Given the description of an element on the screen output the (x, y) to click on. 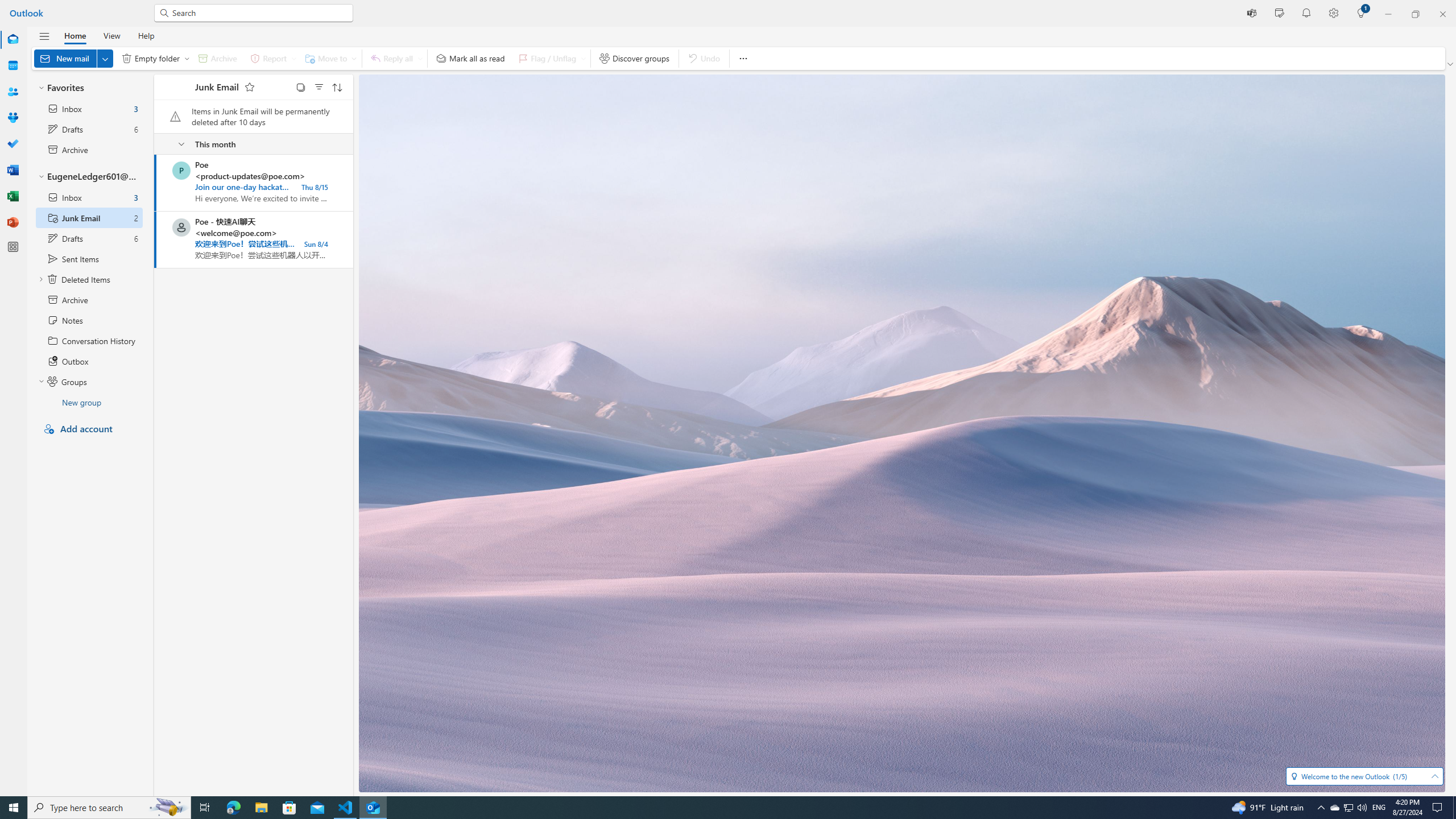
Expand to see more respond options (419, 58)
Favorites (89, 87)
Mark as read (154, 239)
Report (270, 58)
Move to (328, 58)
Undo (703, 58)
Mark all as read (470, 58)
More apps (12, 246)
Help (146, 35)
New mail (73, 58)
